Given the description of an element on the screen output the (x, y) to click on. 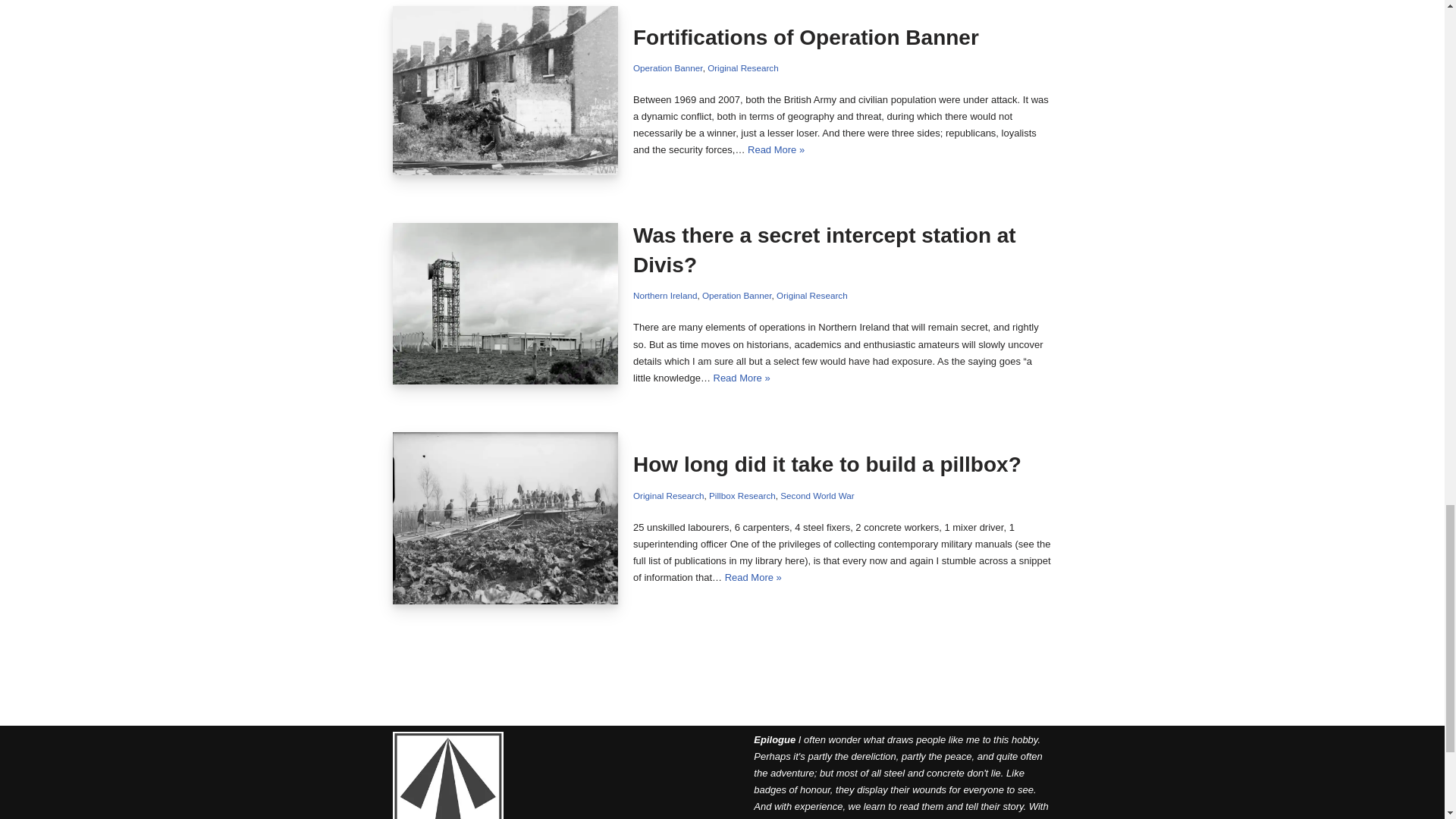
How long did it take to build a pillbox? (505, 518)
Fortifications of Operation Banner (505, 90)
Was there a secret intercept station at Divis? (505, 303)
